Given the description of an element on the screen output the (x, y) to click on. 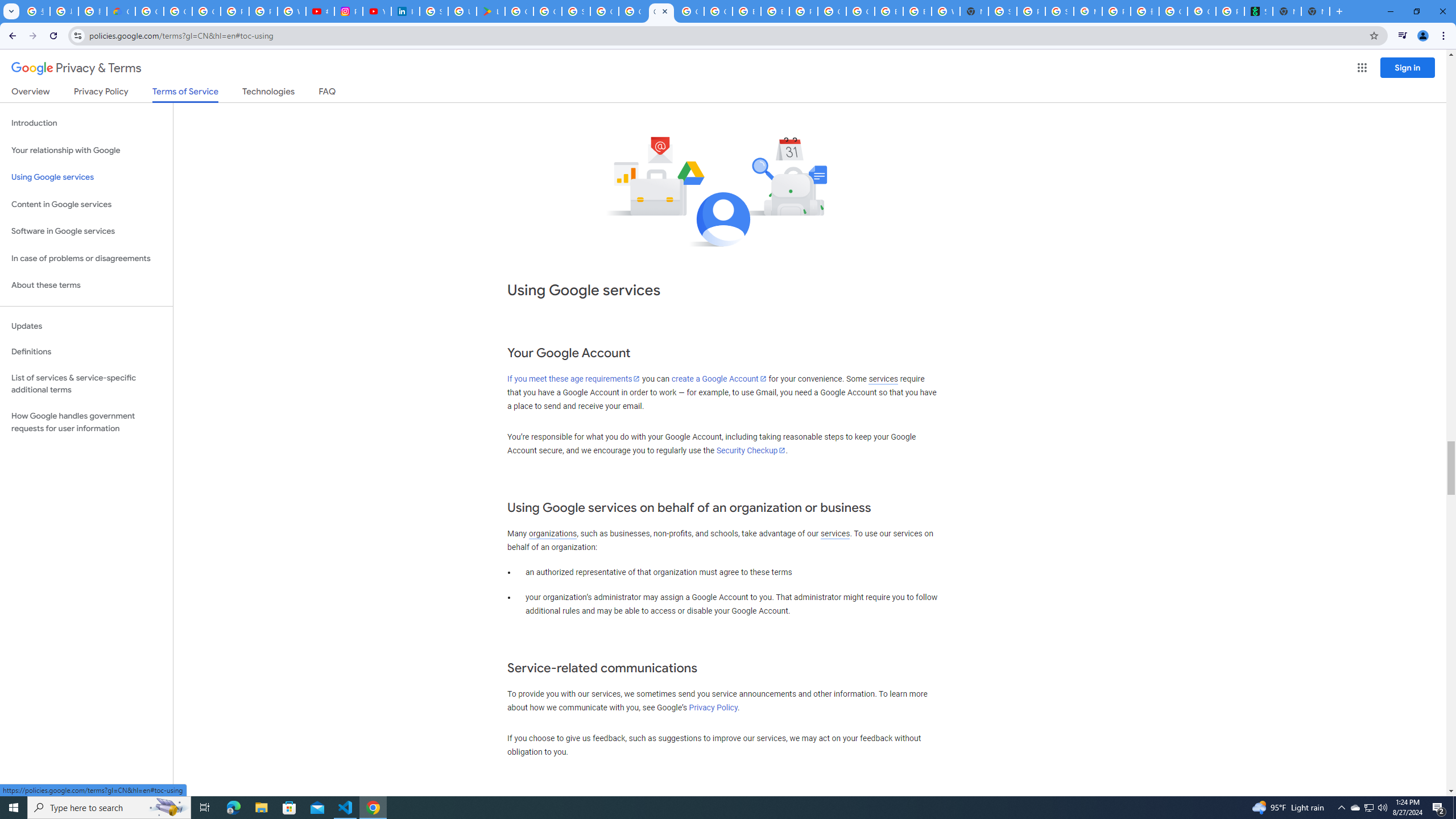
Browse Chrome as a guest - Computer - Google Chrome Help (888, 11)
Sign in - Google Accounts (1002, 11)
create a Google Account (719, 378)
Sign in - Google Accounts (433, 11)
Your relationship with Google (86, 150)
Last Shelter: Survival - Apps on Google Play (490, 11)
